Given the description of an element on the screen output the (x, y) to click on. 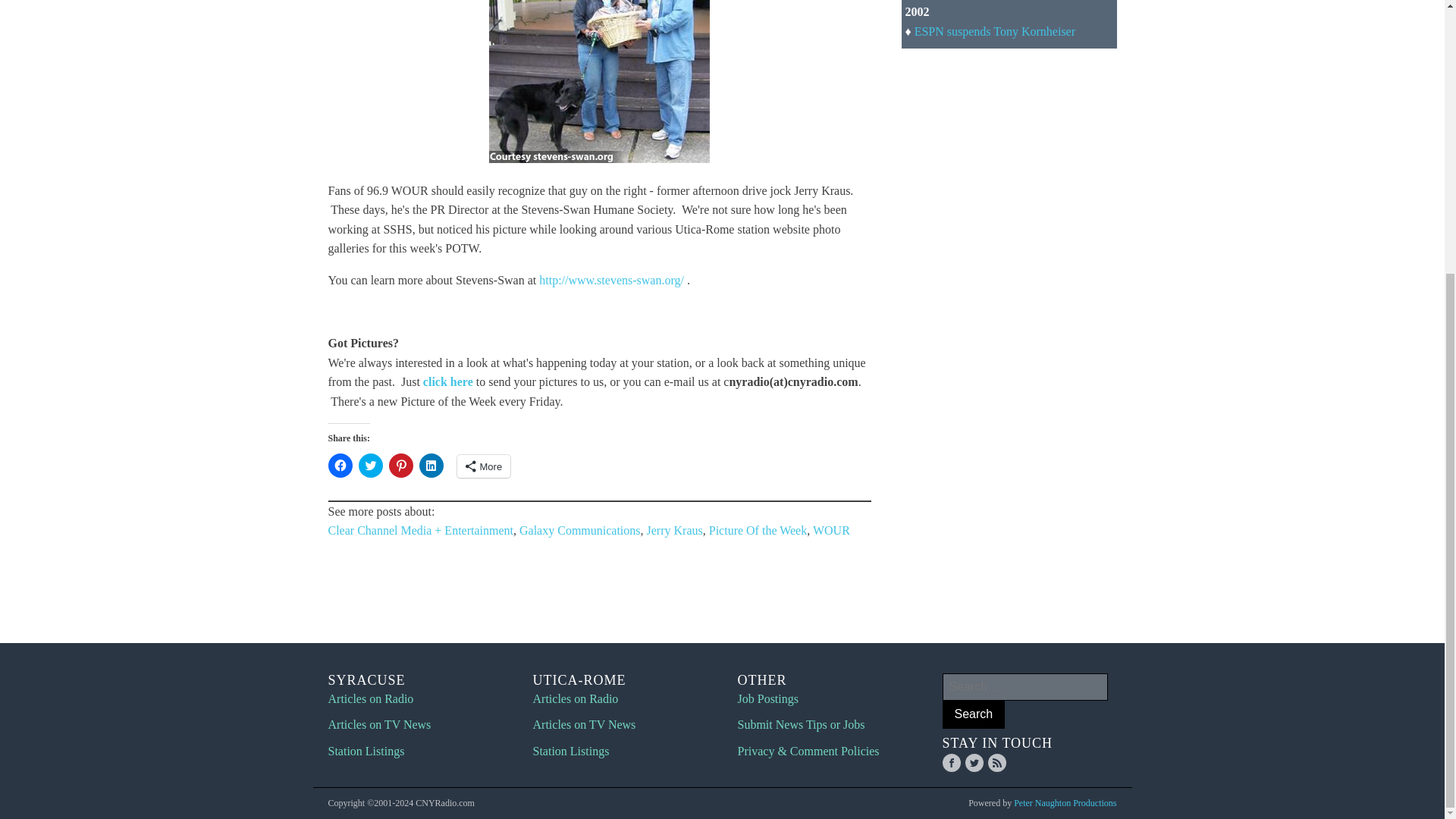
Click to share on Twitter (369, 465)
Jerry Kraus (674, 530)
Search (973, 714)
Click to share on Facebook (339, 465)
Click to share on LinkedIn (430, 465)
Click to share on Pinterest (400, 465)
Galaxy Communications (579, 530)
More (484, 466)
Search (973, 714)
click here (448, 381)
